Given the description of an element on the screen output the (x, y) to click on. 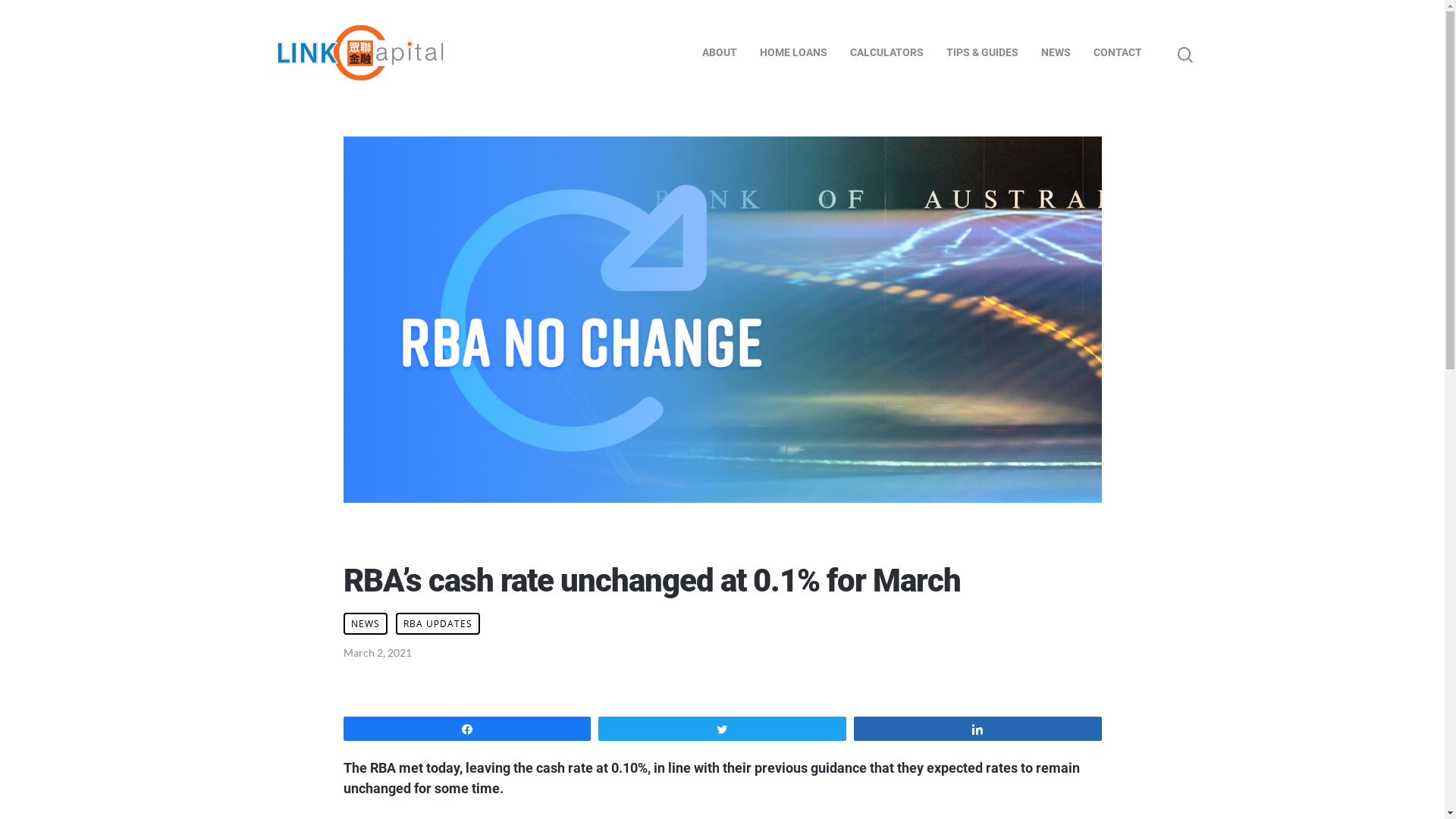
RBA UPDATES Element type: text (437, 623)
ABOUT Element type: text (719, 52)
NEWS Element type: text (364, 623)
CALCULATORS Element type: text (886, 52)
CONTACT Element type: text (1117, 52)
NEWS Element type: text (1055, 52)
HOME LOANS Element type: text (793, 52)
TIPS & GUIDES Element type: text (982, 52)
